Given the description of an element on the screen output the (x, y) to click on. 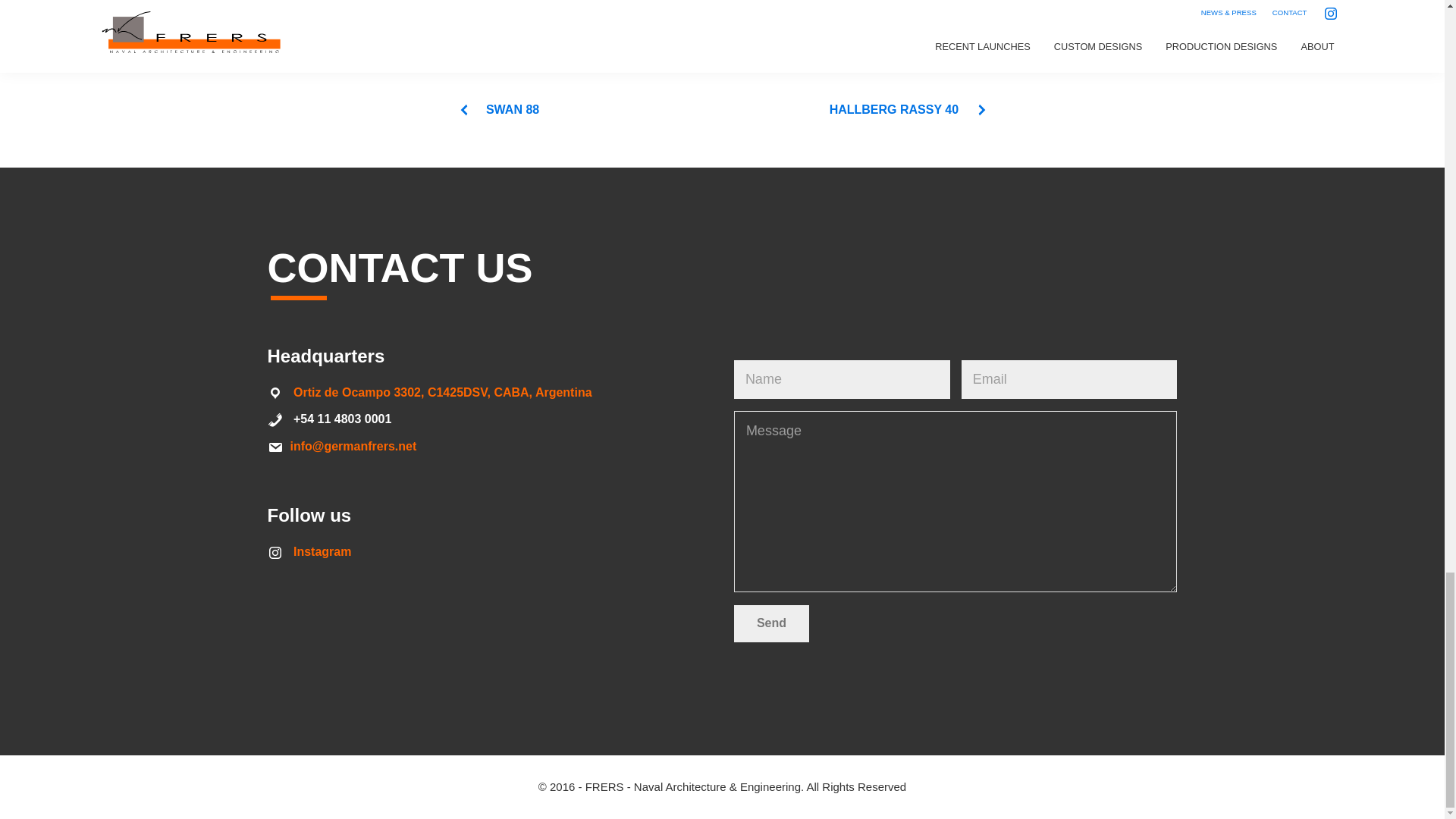
SWAN 88 (498, 109)
Send (771, 623)
Ortiz de Ocampo 3302, C1425DSV, CABA, Argentina (443, 391)
Instagram (322, 551)
Send (771, 623)
HALLBERG RASSY 40 (908, 109)
